Given the description of an element on the screen output the (x, y) to click on. 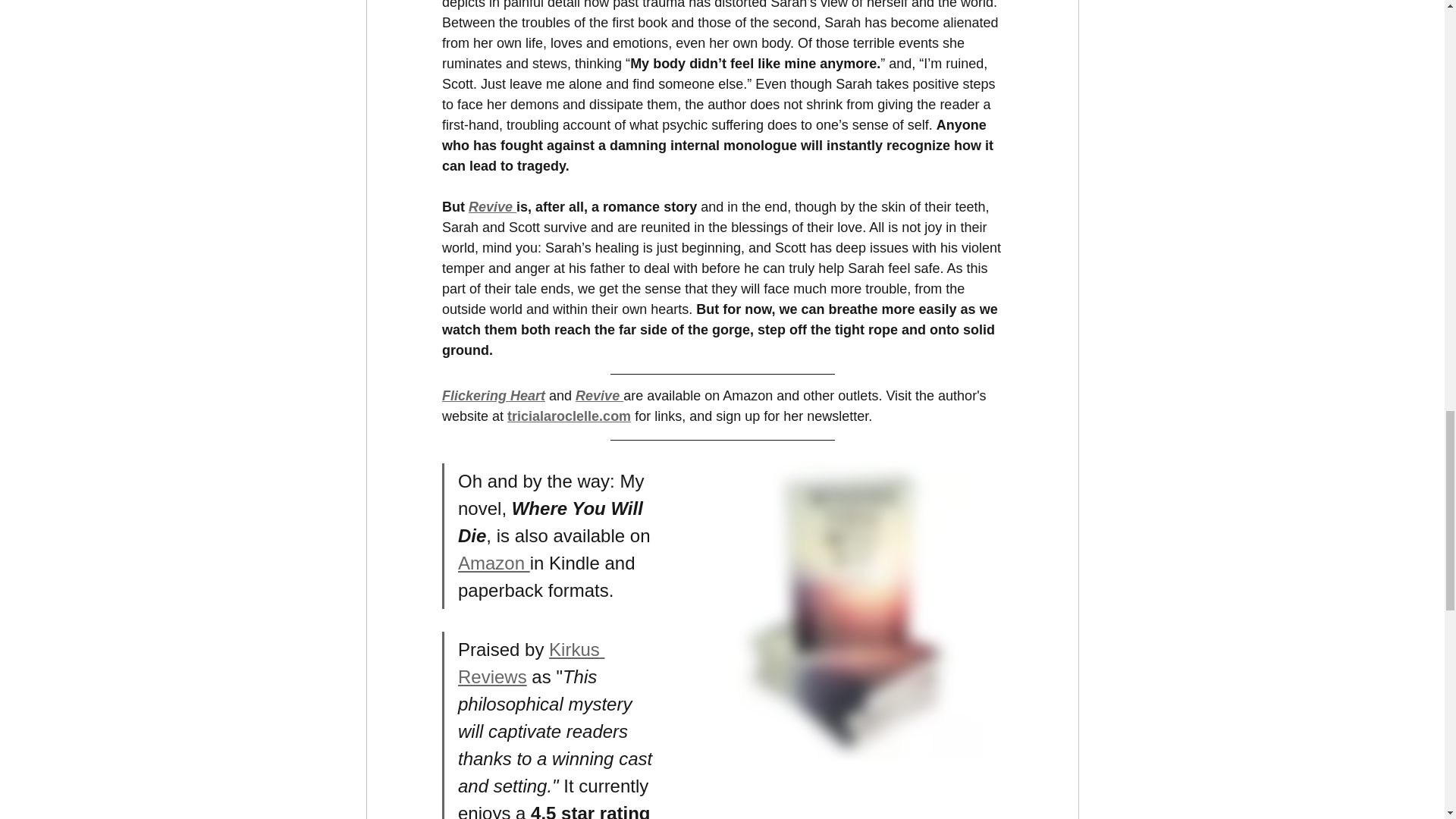
Kirkus Reviews (531, 663)
Revive (597, 395)
Flickering Heart (492, 395)
Revive  (492, 206)
Amazon  (493, 562)
tricialaroclelle.com (568, 416)
